Given the description of an element on the screen output the (x, y) to click on. 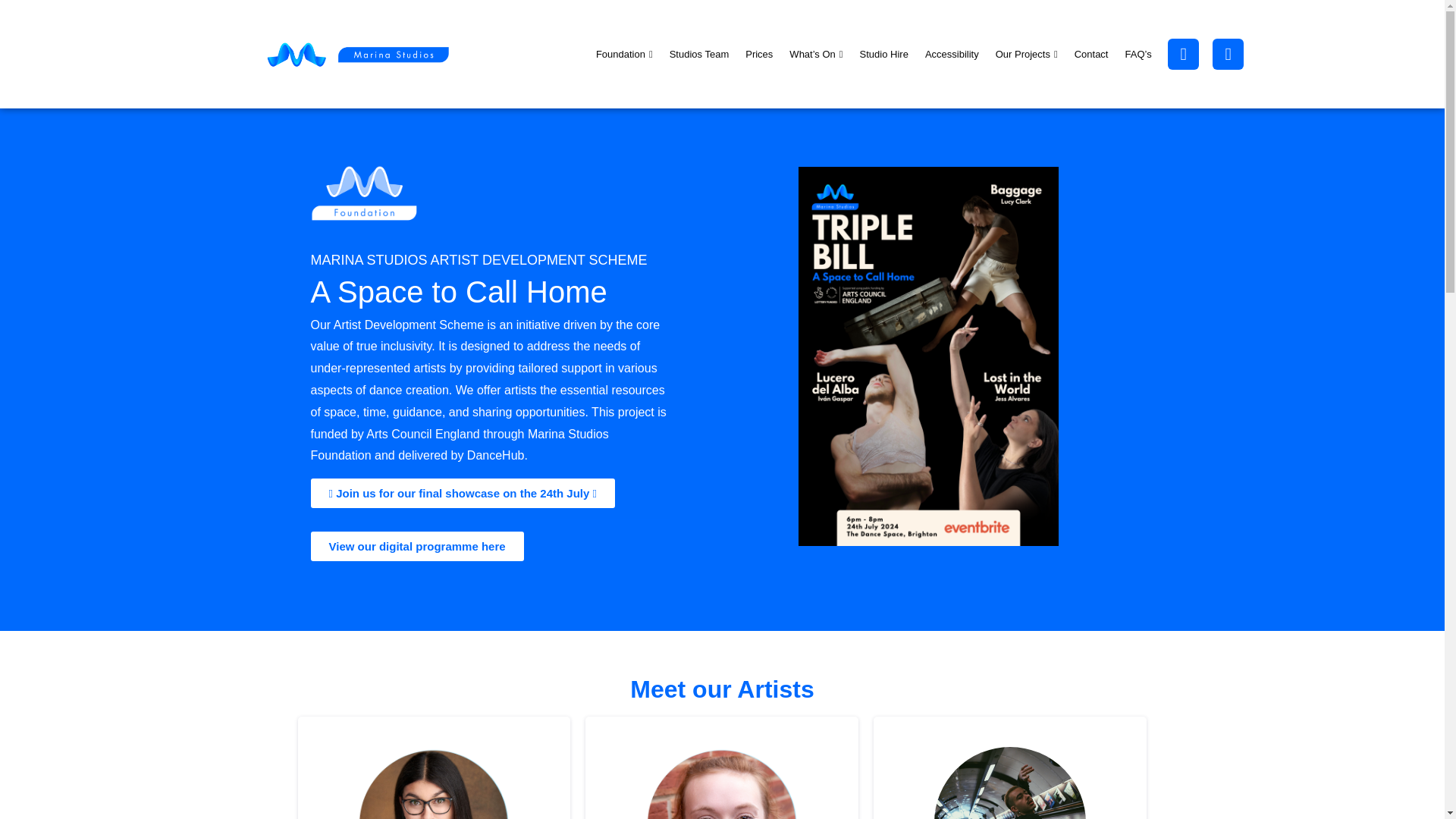
Contact (1090, 54)
Foundation (624, 54)
Accessibility (952, 54)
Prices (758, 54)
Studio Hire (884, 54)
Studios Team (699, 54)
Our Projects (1026, 54)
